Given the description of an element on the screen output the (x, y) to click on. 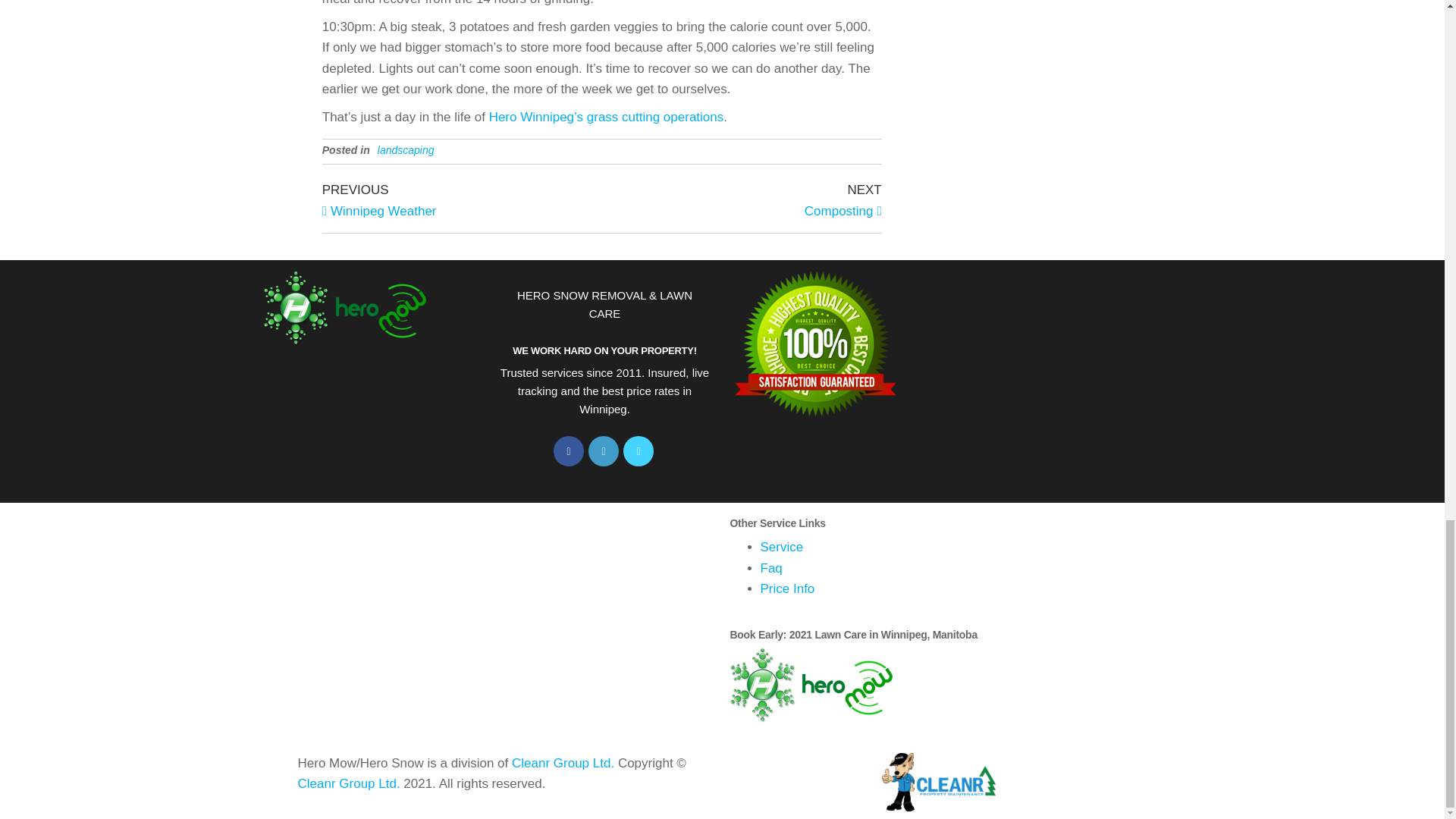
Twitter (638, 450)
Cleanr Group Ltd. (347, 783)
Facebook (568, 450)
LinkedIn (603, 450)
Cleanr Group Ltd. (563, 762)
Service (781, 546)
Hero Snow Removal Winnipeg (505, 623)
landscaping (405, 150)
Faq (770, 568)
